Given the description of an element on the screen output the (x, y) to click on. 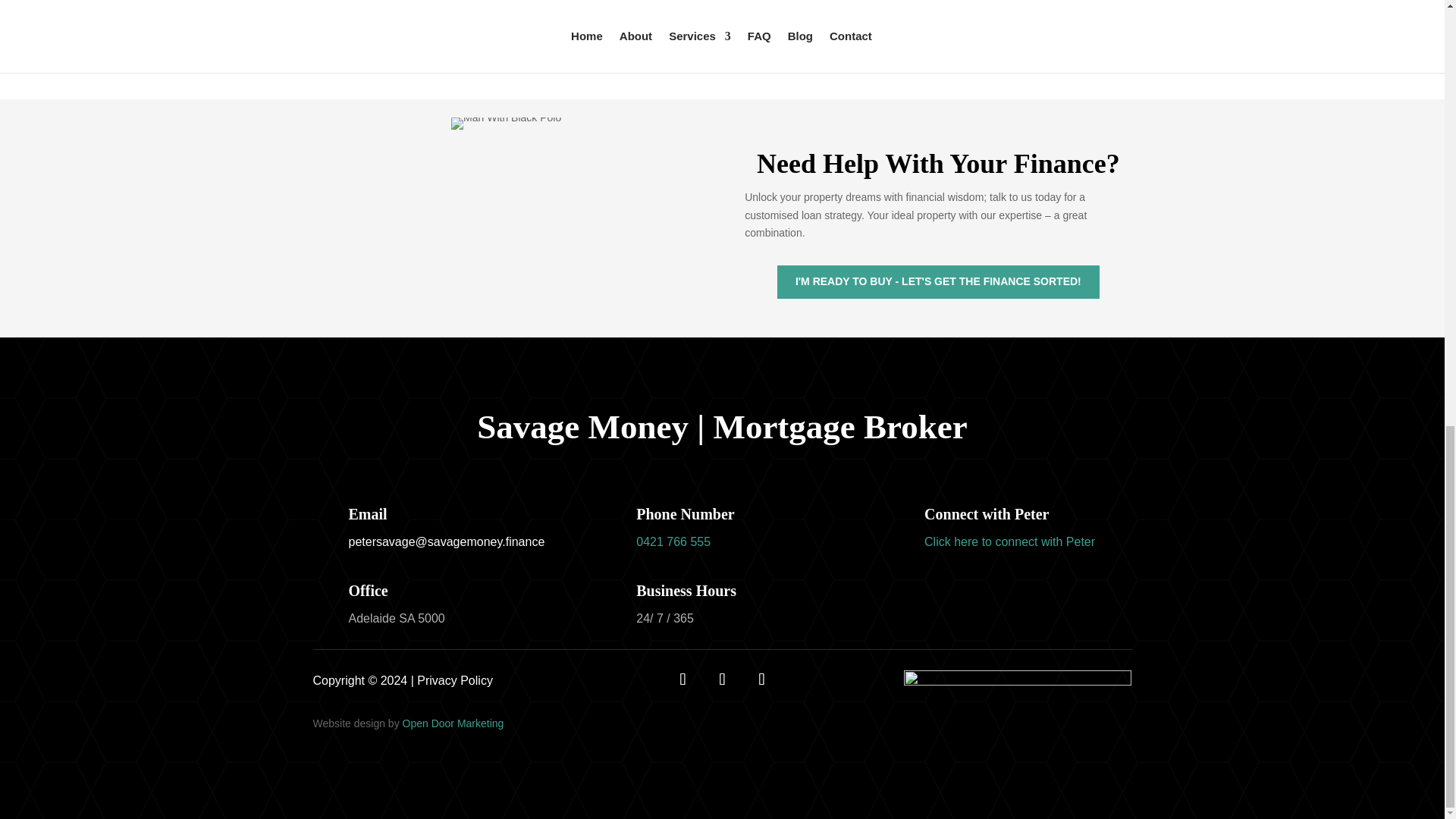
Follow on X (721, 679)
Open Door Marketing (453, 723)
0421 766 555 (673, 541)
Follow on Facebook (681, 679)
I'M READY TO BUY - LET'S GET THE FINANCE SORTED! (938, 281)
005-e1698809495494 (505, 123)
Connect with peter (1009, 541)
Follow on Instagram (760, 679)
Click here to connect with Peter (1009, 541)
Privacy Policy (454, 680)
